Given the description of an element on the screen output the (x, y) to click on. 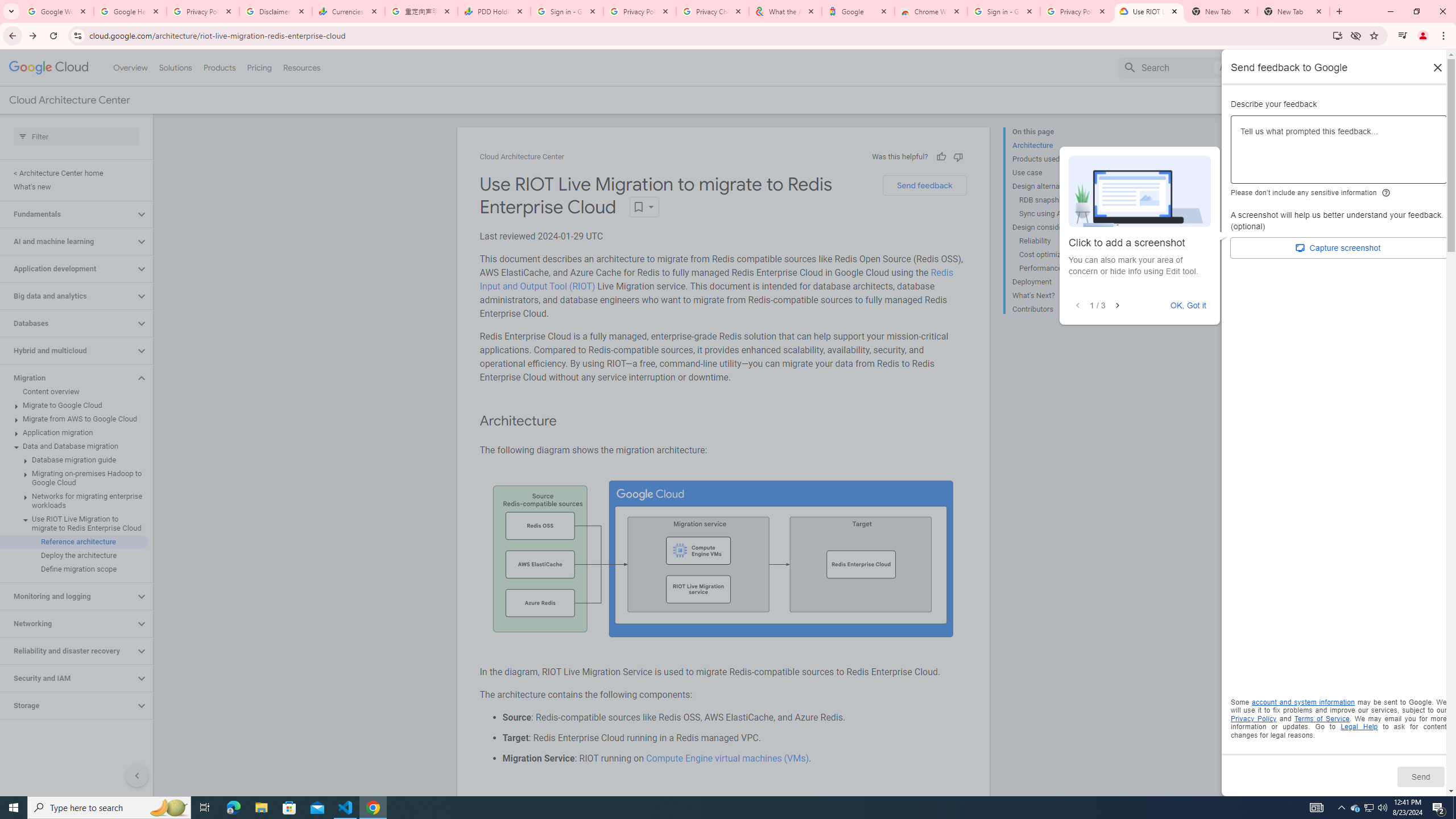
Design considerations (1058, 227)
Networking (67, 623)
Send (1420, 776)
Contributors (1058, 307)
Currencies - Google Finance (348, 11)
Open dropdown (643, 206)
Opens in a new tab. Terms of Service (1321, 718)
Migrate to Google Cloud (74, 404)
